Given the description of an element on the screen output the (x, y) to click on. 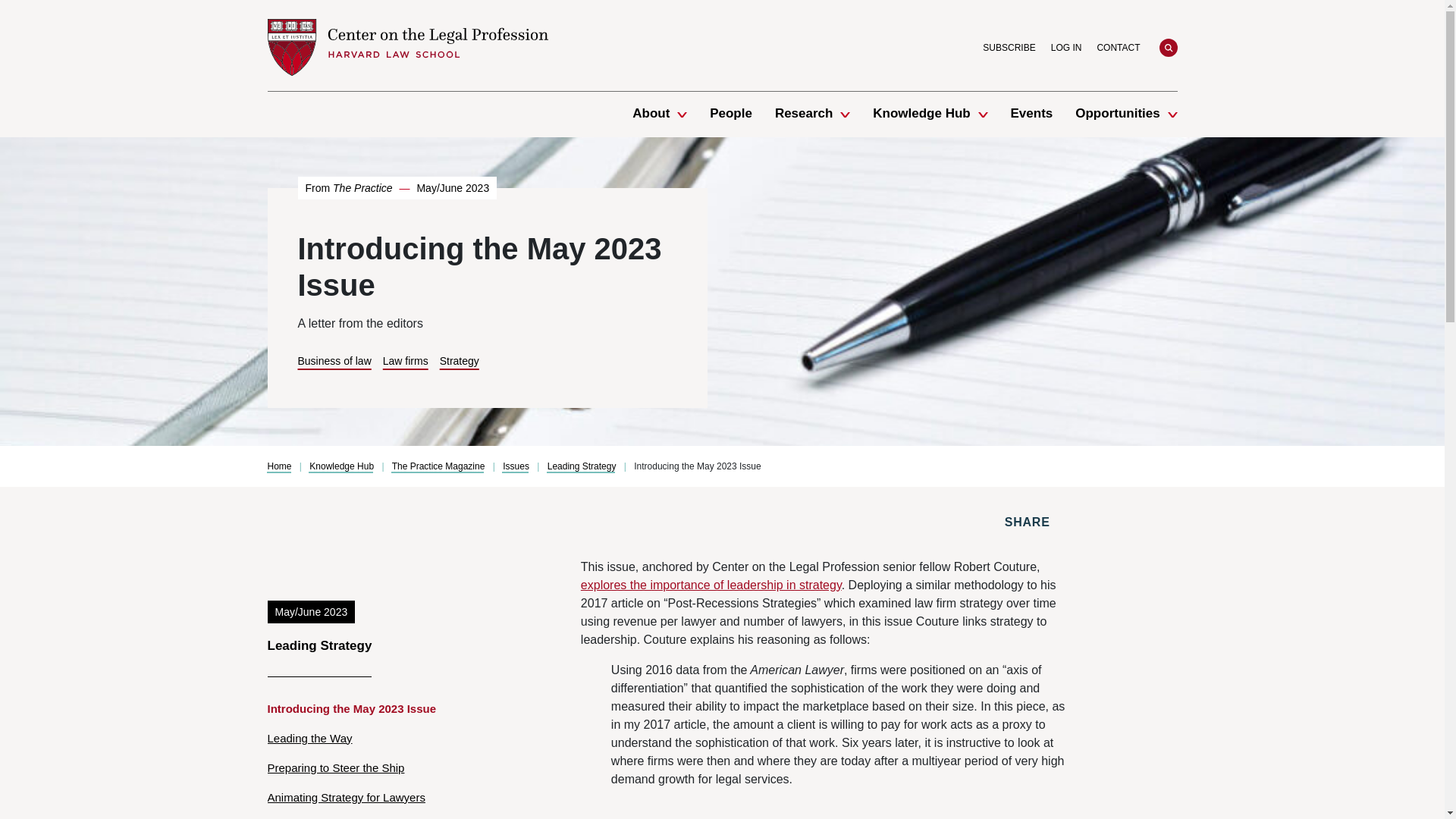
Harvard Law School (406, 47)
People (731, 113)
Opportunities (1116, 113)
Knowledge Hub (920, 113)
About (650, 113)
CONTACT (1118, 47)
Events (1031, 113)
LOG IN (1066, 47)
Research (803, 113)
SUBSCRIBE (1008, 47)
